Given the description of an element on the screen output the (x, y) to click on. 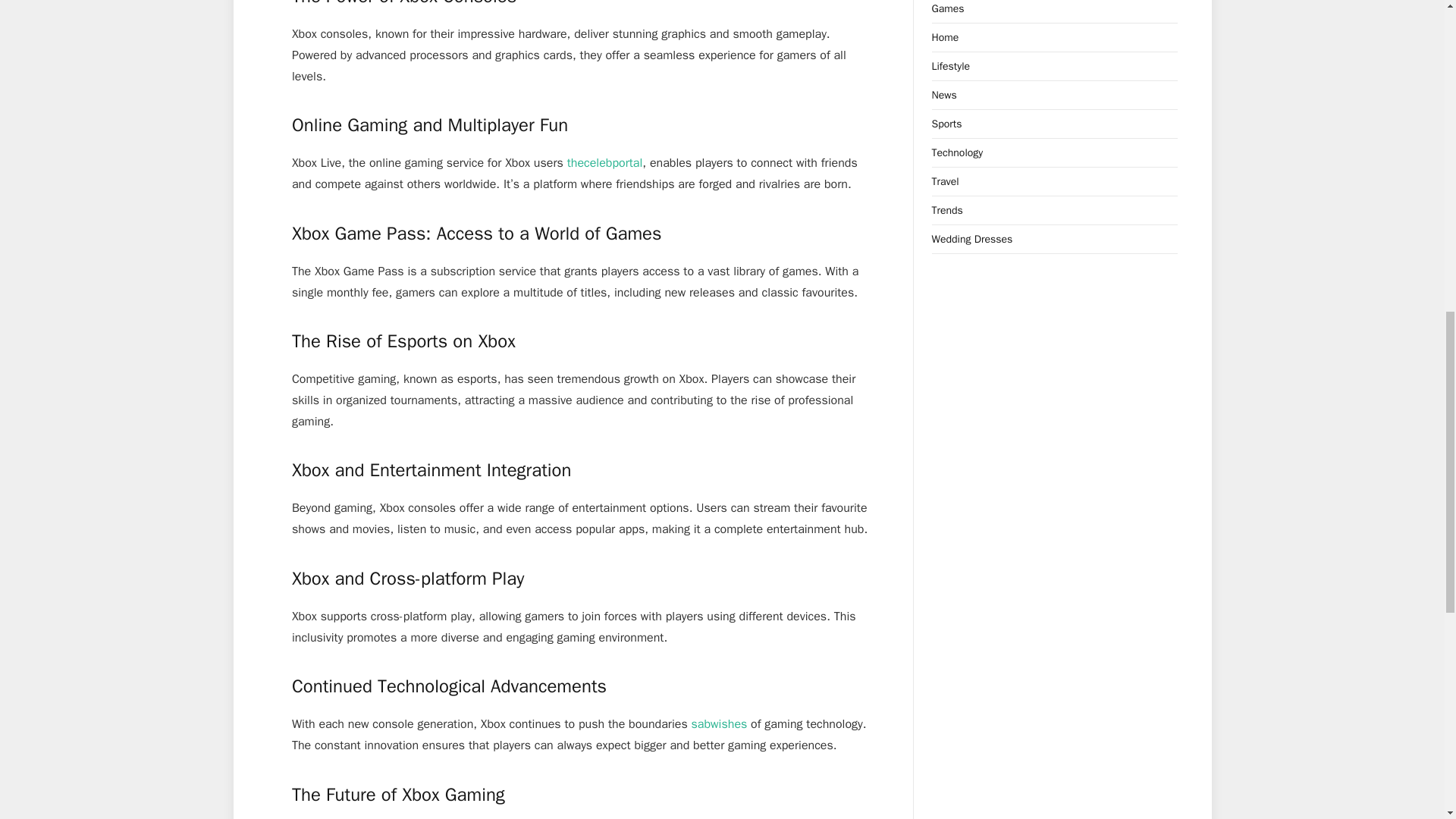
thecelebportal (605, 162)
sabwishes (719, 724)
